Given the description of an element on the screen output the (x, y) to click on. 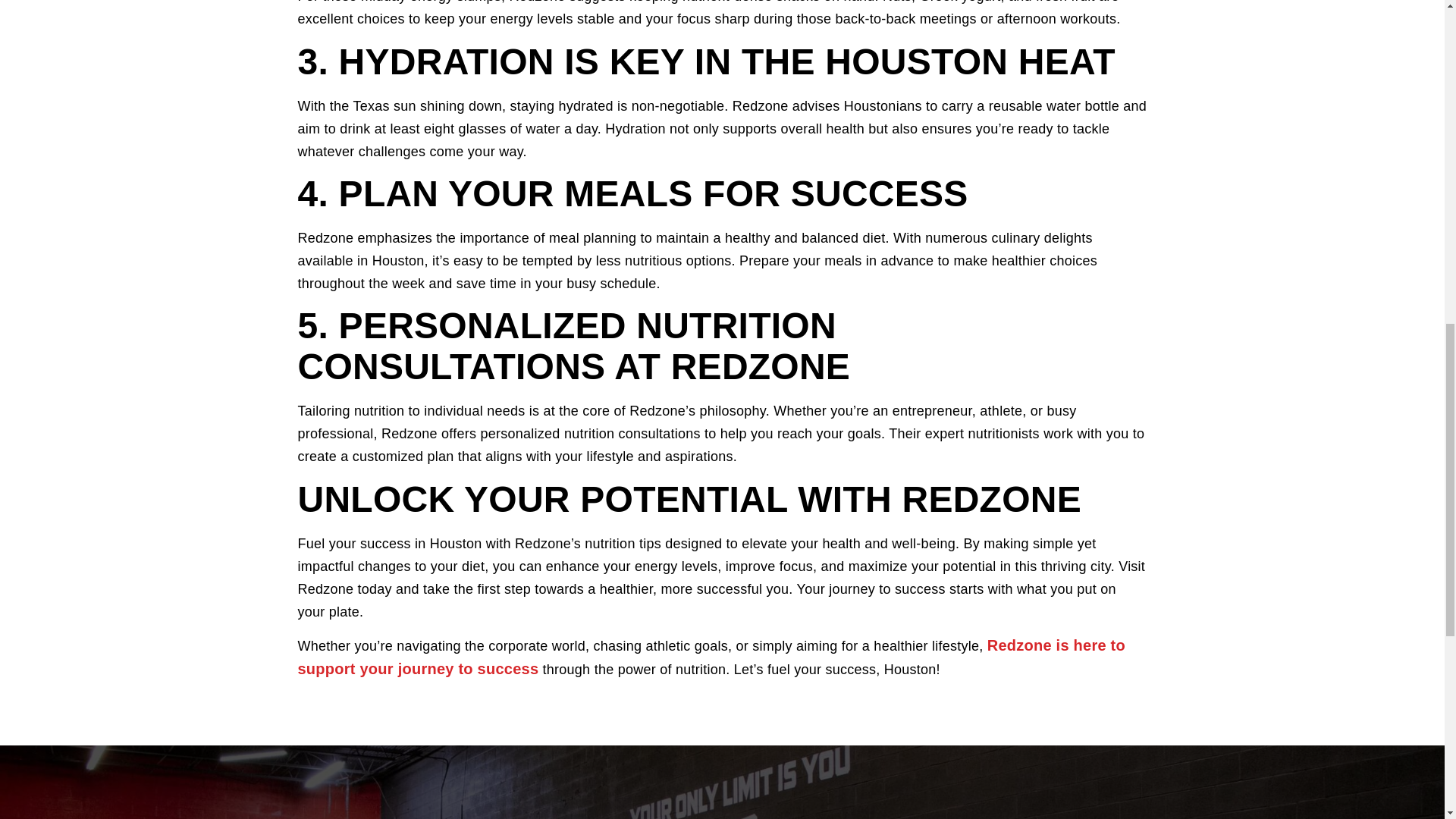
Redzone is here to support your journey to success (711, 657)
